Given the description of an element on the screen output the (x, y) to click on. 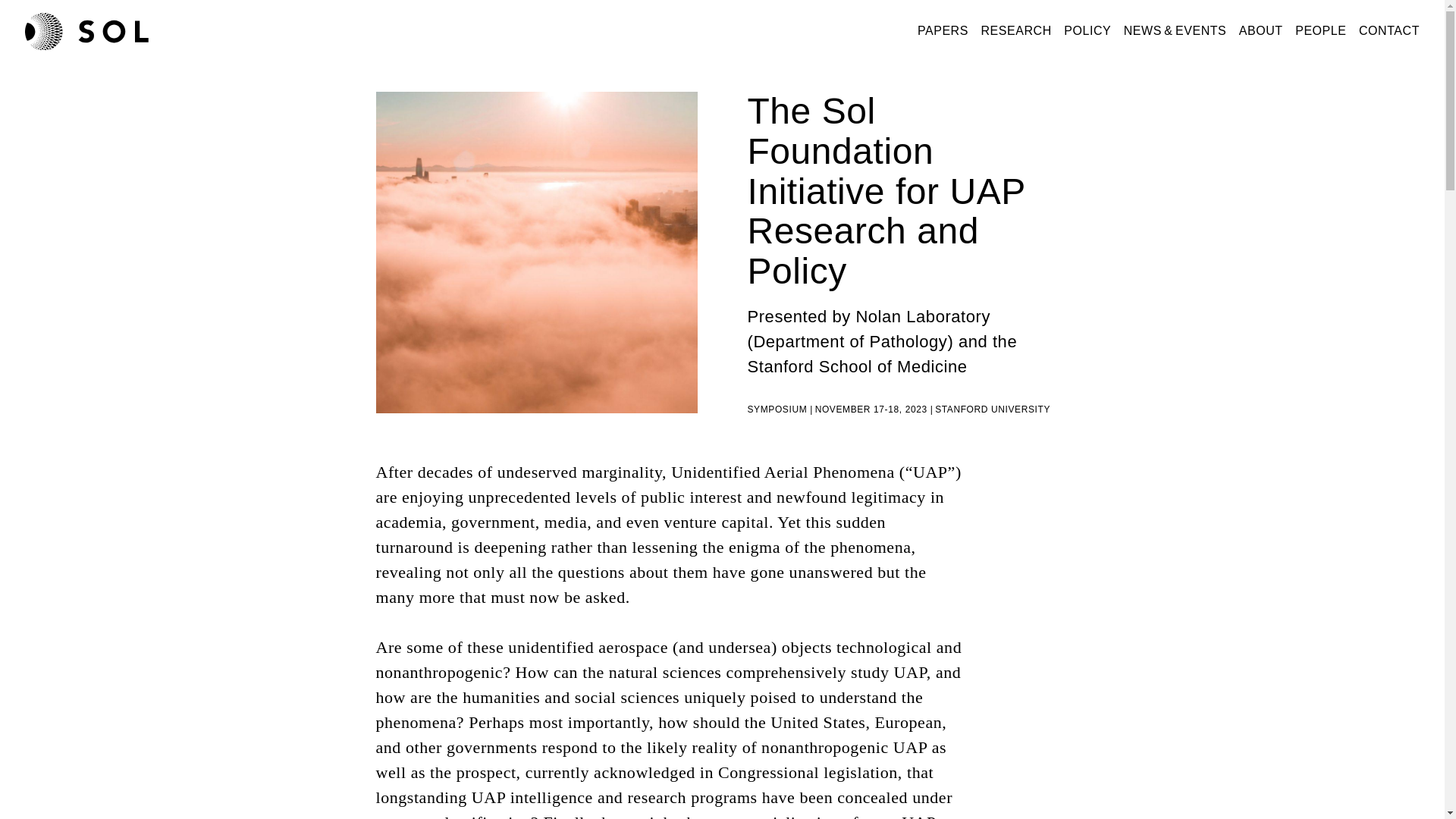
CONTACT (1388, 30)
PEOPLE (1320, 30)
PAPERS (942, 30)
RESEARCH (1015, 30)
POLICY (1087, 30)
ABOUT (1260, 30)
The Sol Foundation (86, 30)
